Given the description of an element on the screen output the (x, y) to click on. 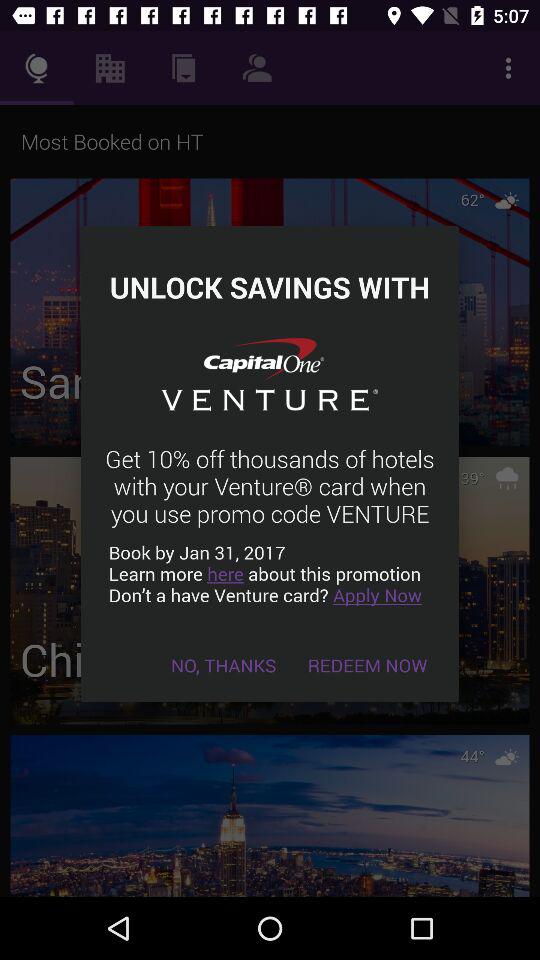
press the icon above no, thanks icon (269, 573)
